Given the description of an element on the screen output the (x, y) to click on. 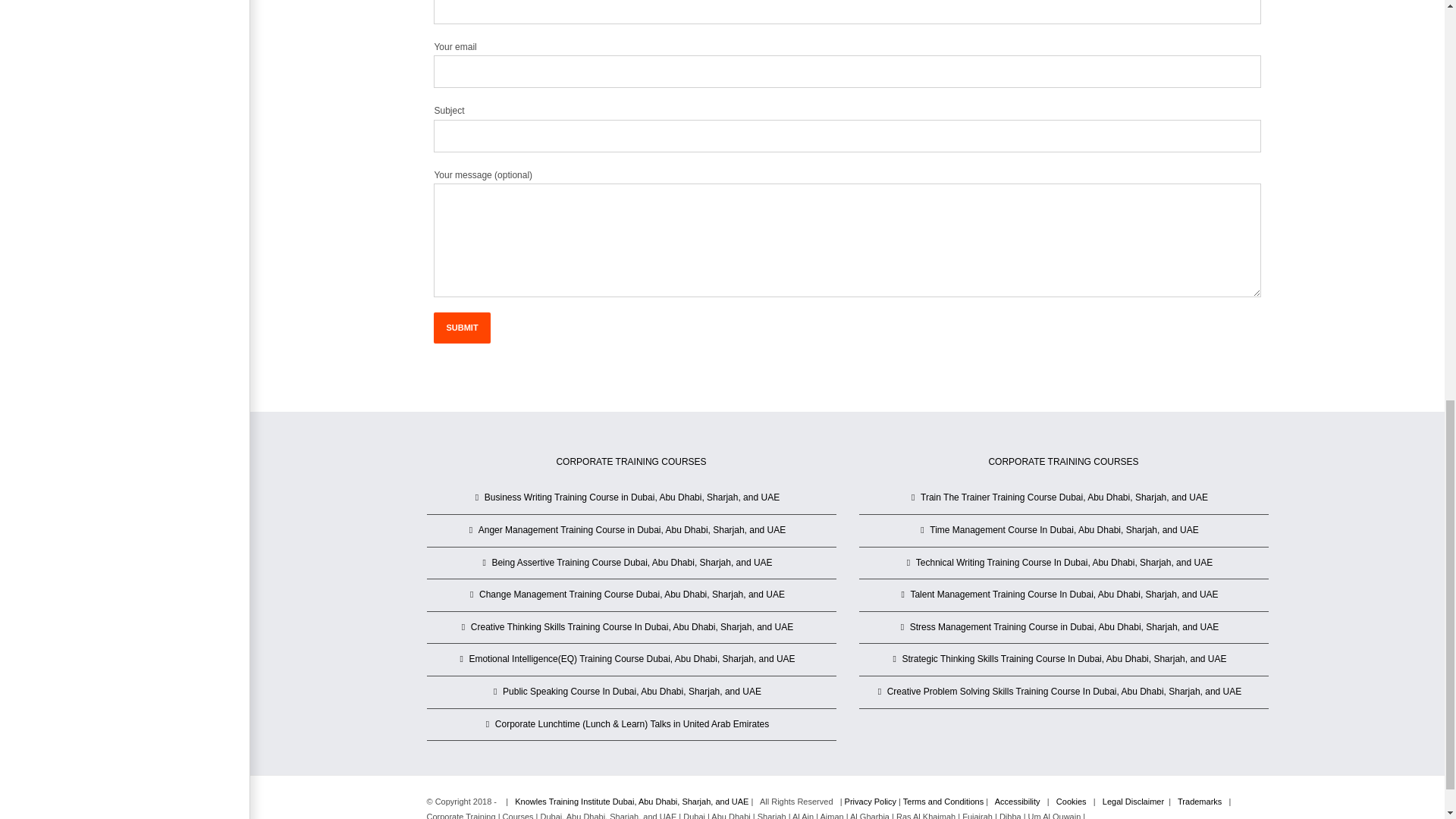
Public Speaking Course In Dubai, Abu Dhabi, Sharjah, and UAE (631, 692)
Submit (461, 327)
Submit (461, 327)
